Given the description of an element on the screen output the (x, y) to click on. 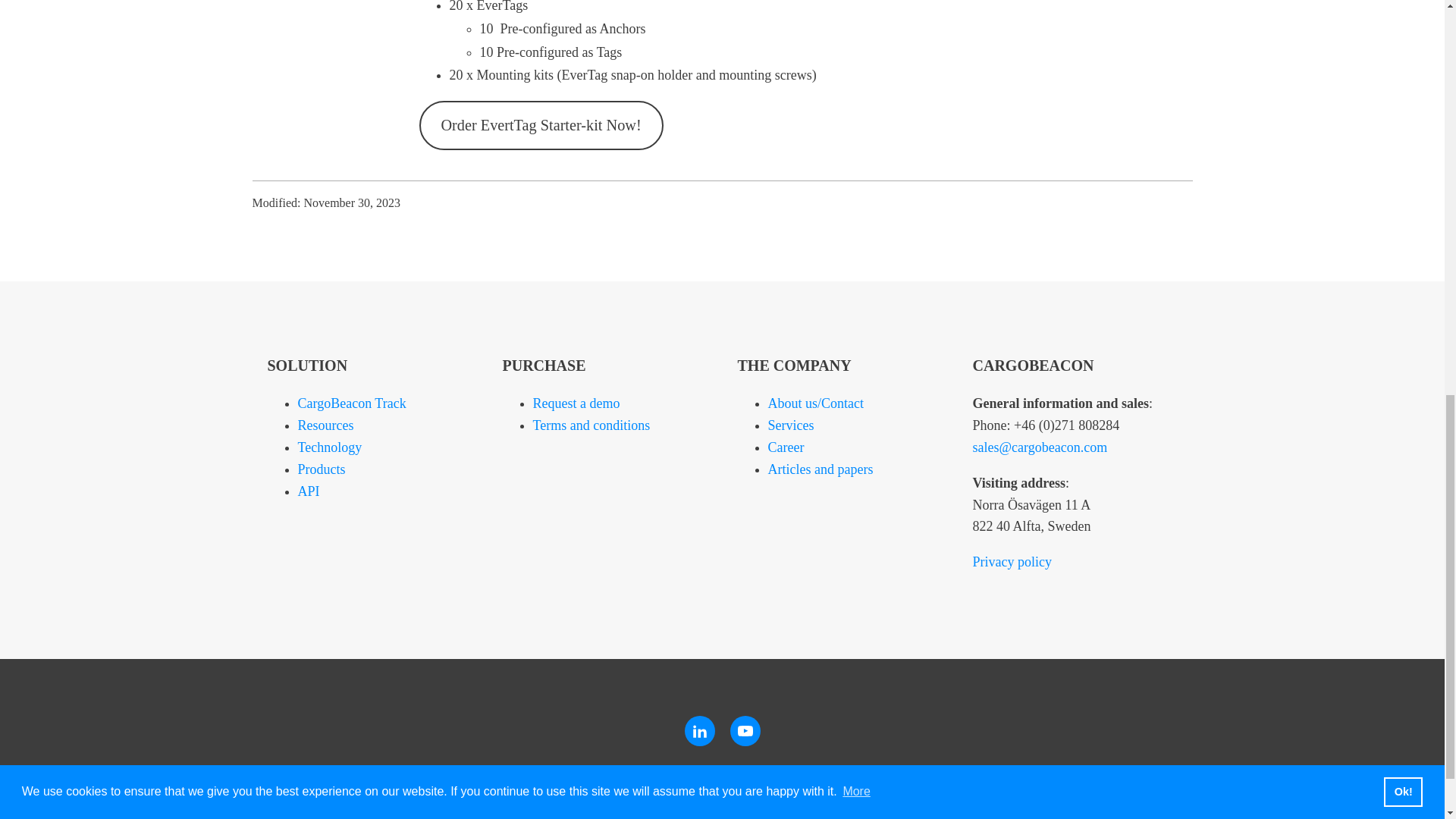
Resources (325, 425)
Products (321, 468)
Technology (329, 447)
Articles and papers (819, 468)
Request a demo (576, 403)
Career (785, 447)
Services (790, 425)
CargoBeacon Track (351, 403)
Order EvertTag Starter-kit Now! (540, 124)
Privacy policy (1011, 561)
